Given the description of an element on the screen output the (x, y) to click on. 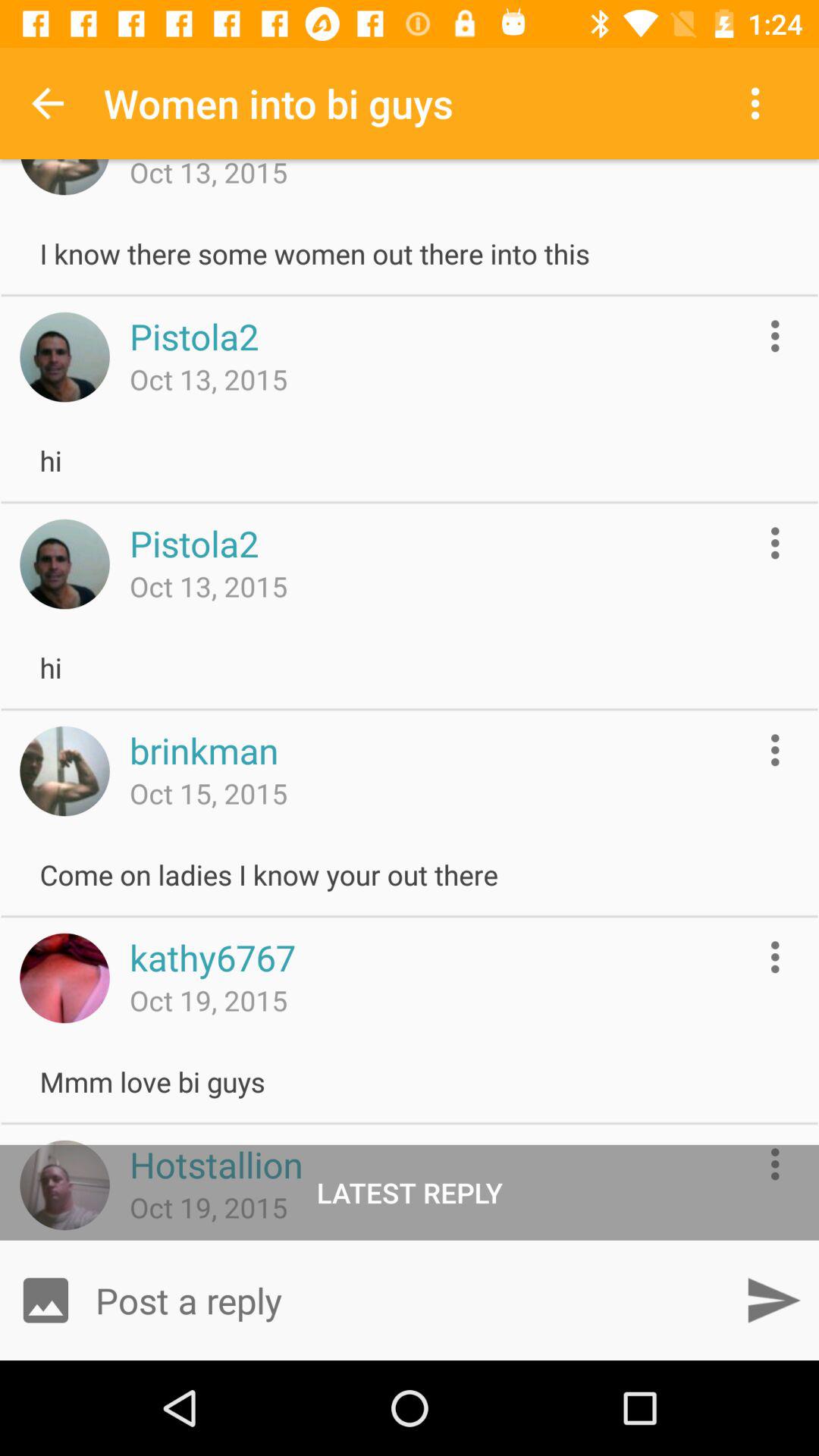
view this user 's profile (64, 978)
